Given the description of an element on the screen output the (x, y) to click on. 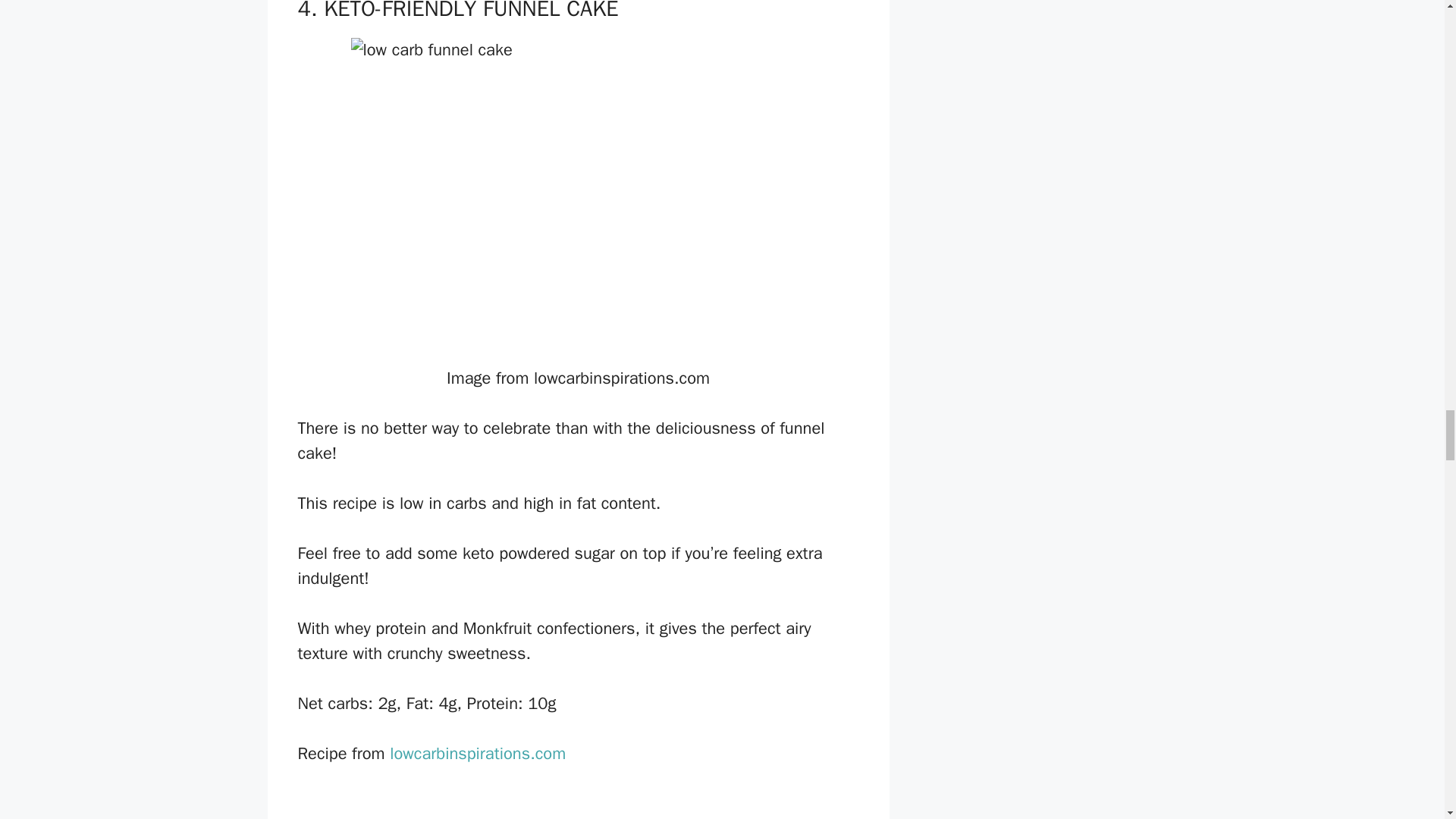
lowcarbinspirations.com (475, 753)
